Given the description of an element on the screen output the (x, y) to click on. 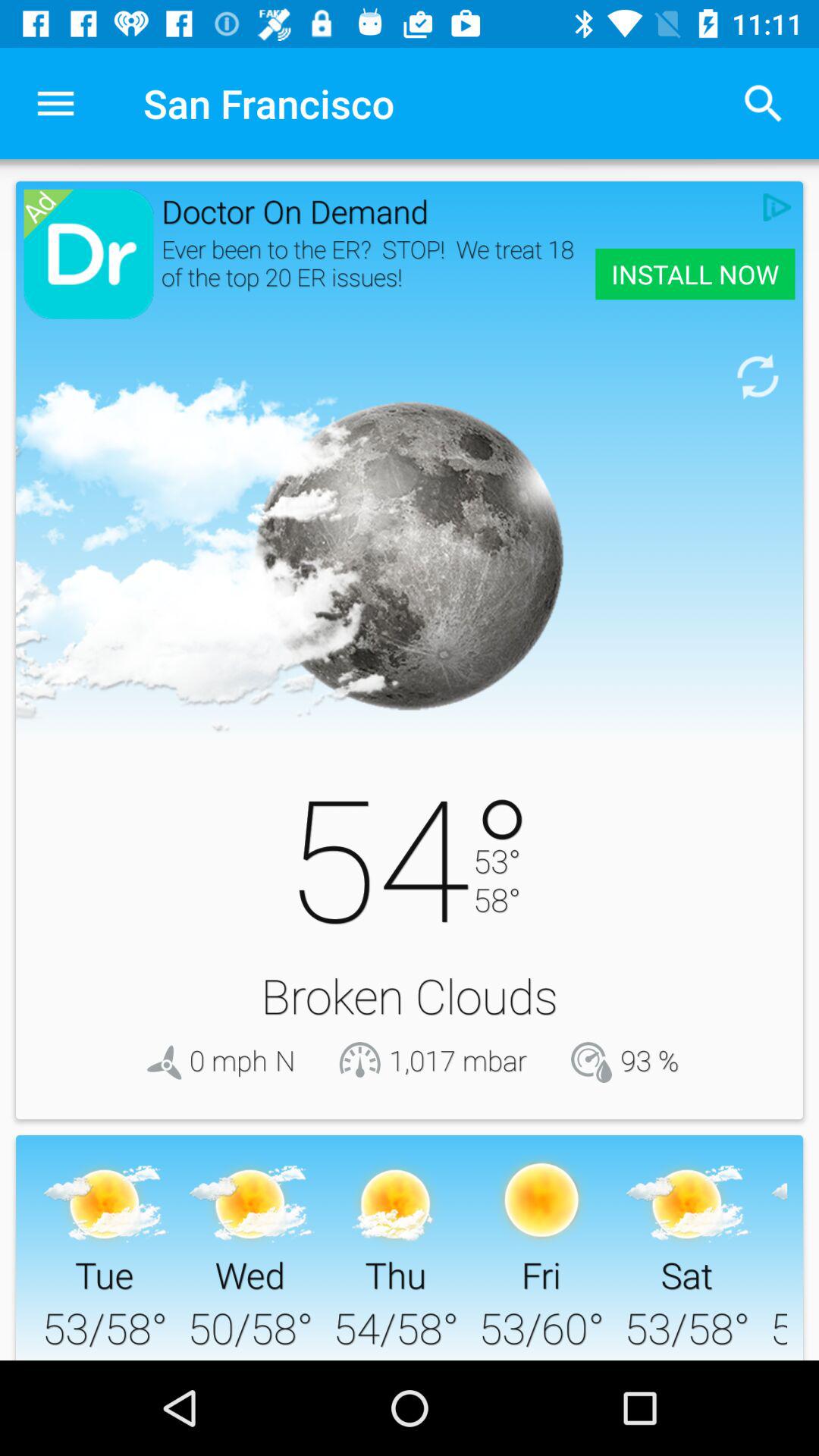
press the icon next to san francisco icon (55, 103)
